Given the description of an element on the screen output the (x, y) to click on. 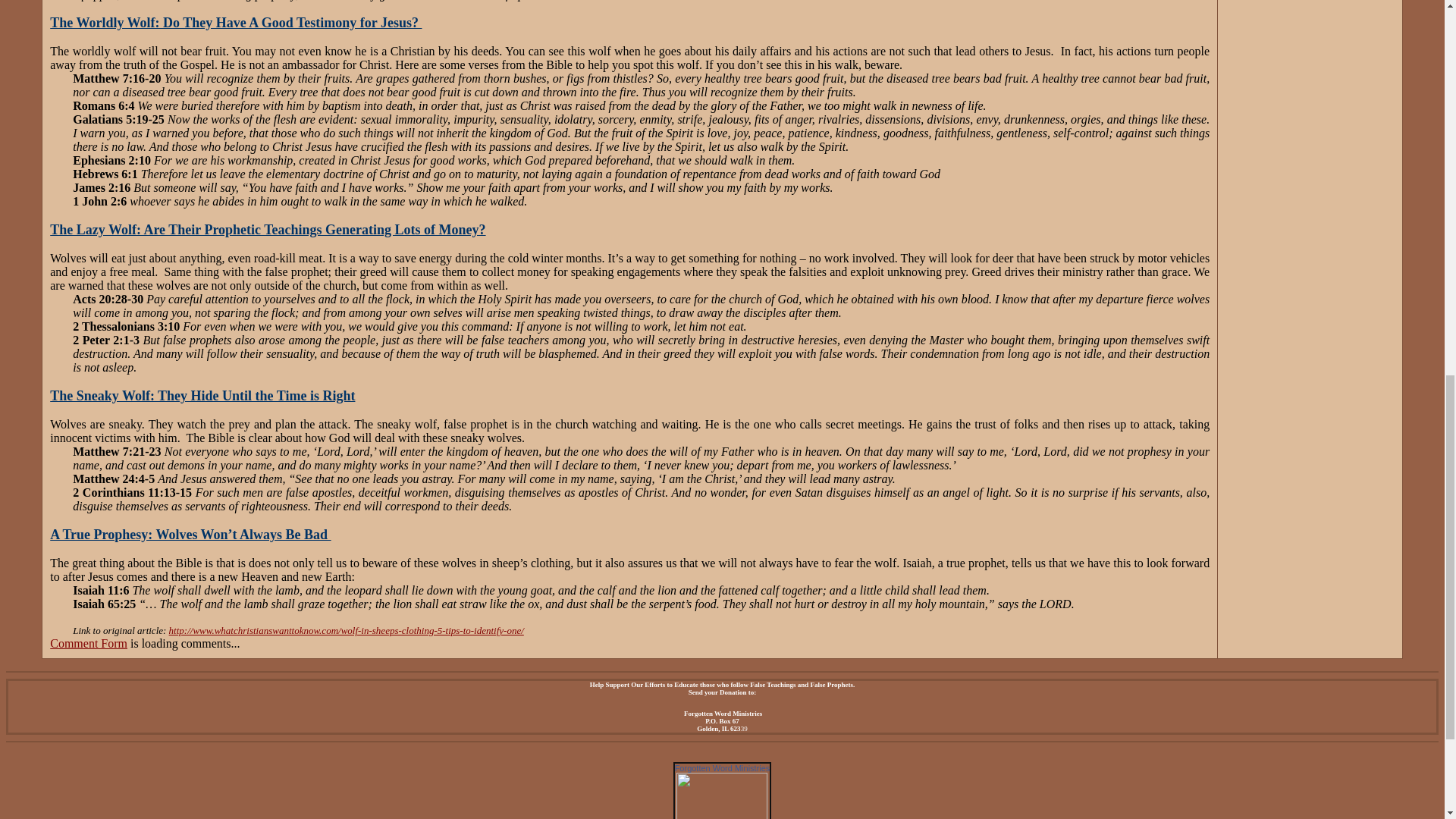
Forgotten Word Ministries (722, 768)
Forgotten Word Ministries (722, 768)
Comment Form (88, 643)
